Given the description of an element on the screen output the (x, y) to click on. 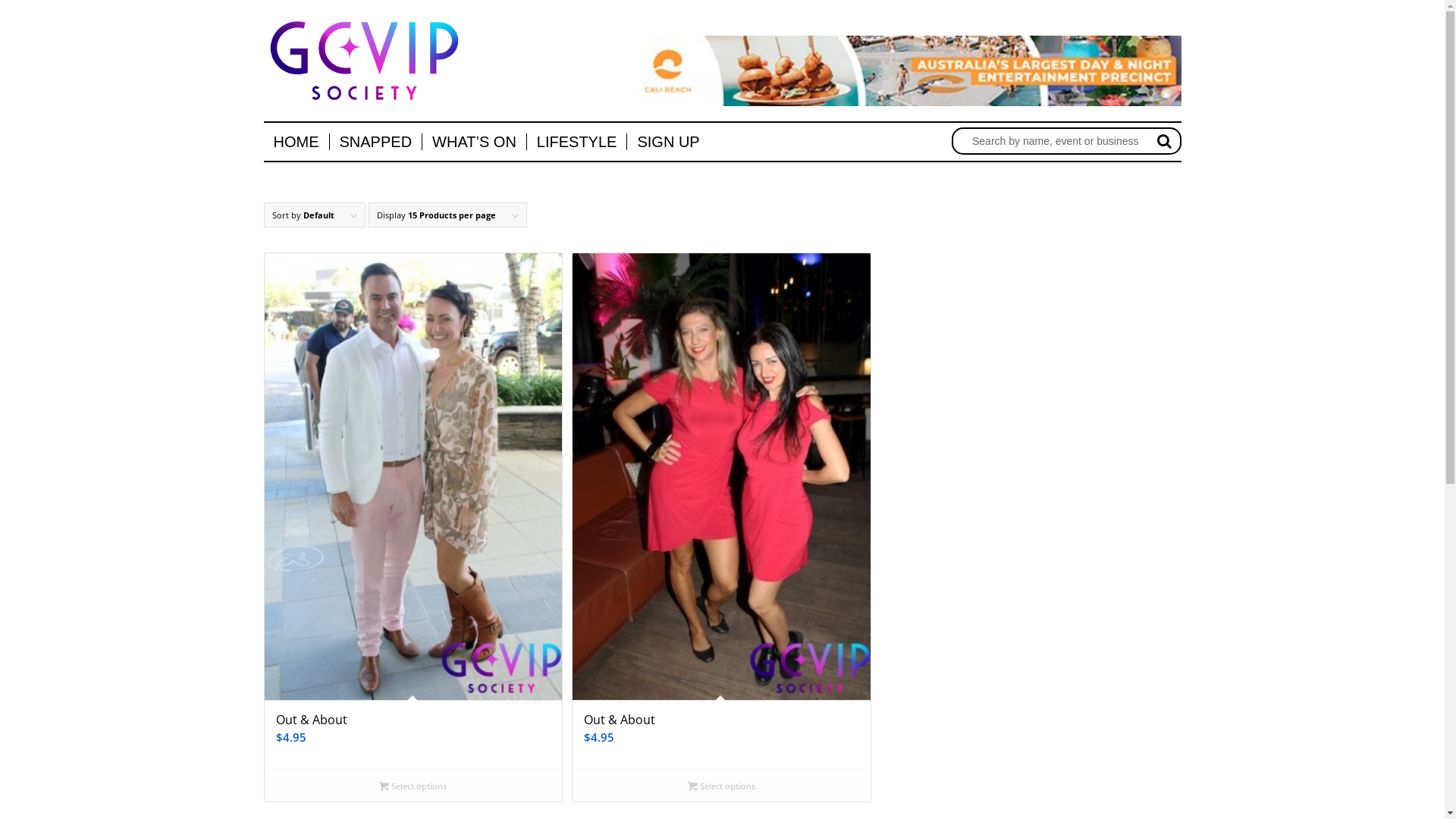
HOME Element type: text (296, 141)
Select options Element type: text (412, 785)
CALI_GCVIP_468x60 Element type: hover (905, 70)
SNAPPED Element type: text (375, 141)
LIFESTYLE Element type: text (576, 141)
Out & About
$4.95 Element type: text (412, 510)
Select options Element type: text (721, 785)
SIGN UP Element type: text (667, 141)
Out & About
$4.95 Element type: text (720, 510)
